Given the description of an element on the screen output the (x, y) to click on. 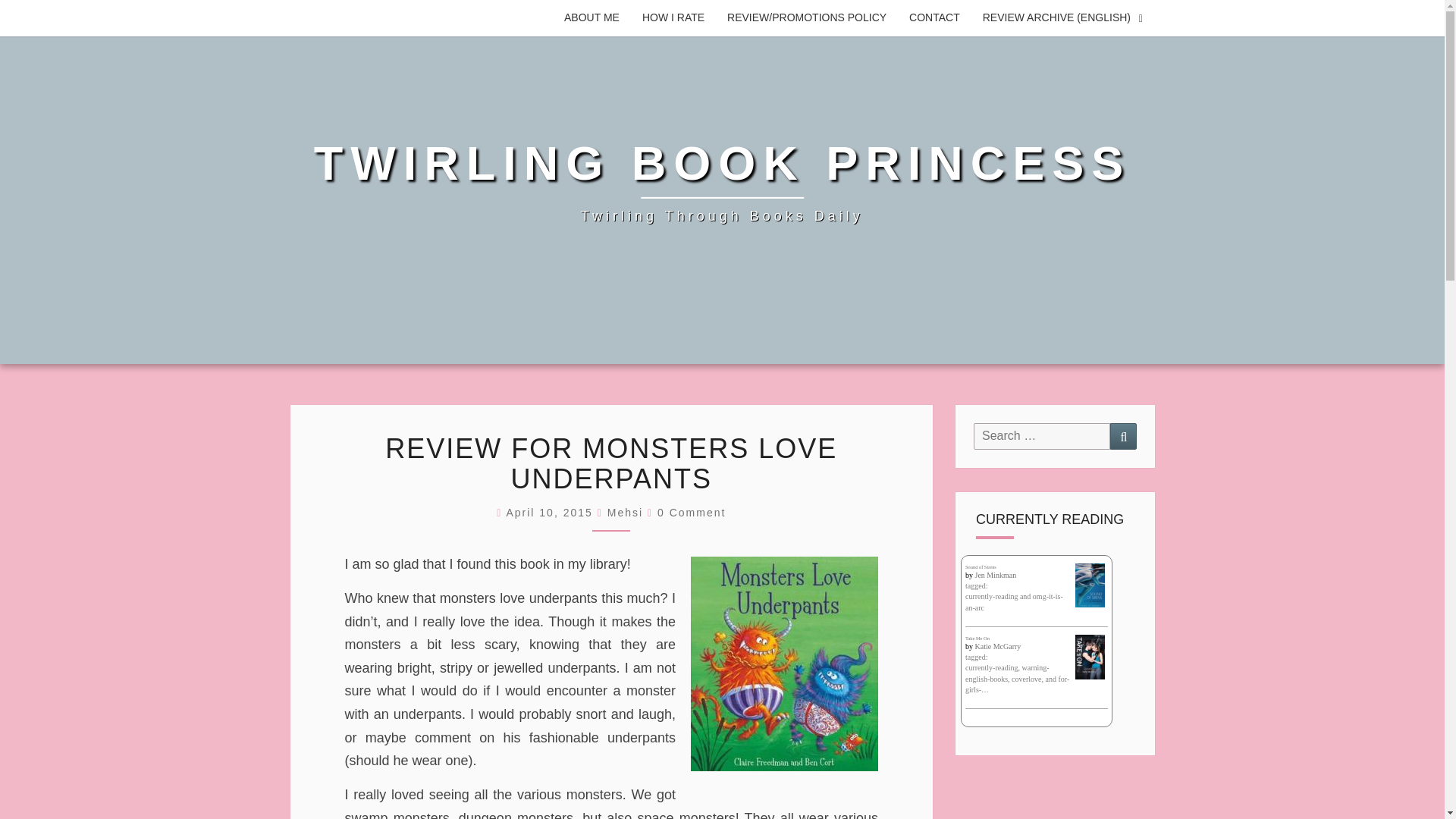
ABOUT ME (591, 18)
12:48 (550, 512)
View all posts by Mehsi (625, 512)
Twirling Book Princess (722, 181)
Search for: (1041, 436)
HOW I RATE (673, 18)
CONTACT (934, 18)
